Given the description of an element on the screen output the (x, y) to click on. 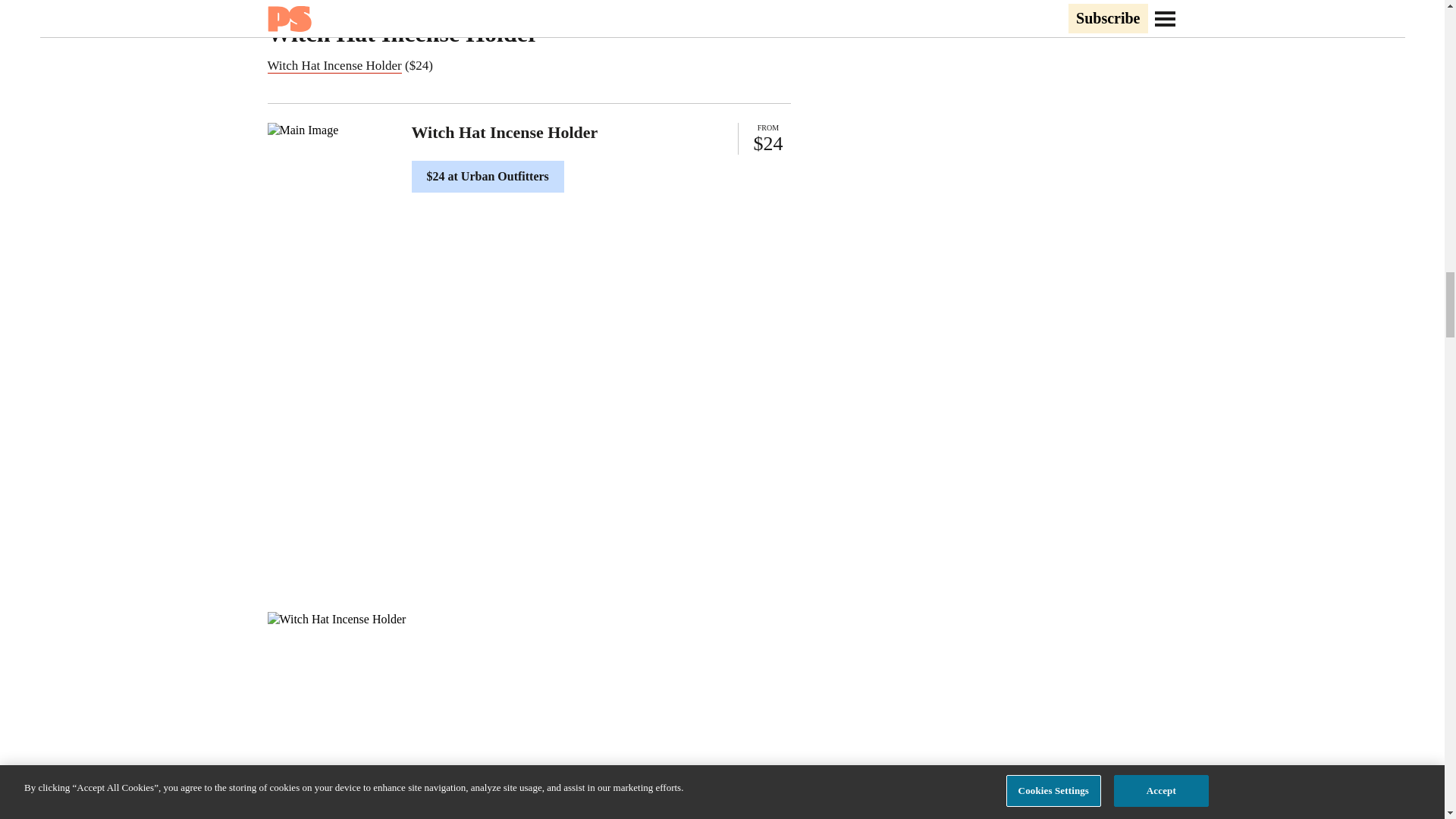
Witch Hat Incense Holder (333, 65)
urbanoutfitters.com (298, 0)
